Given the description of an element on the screen output the (x, y) to click on. 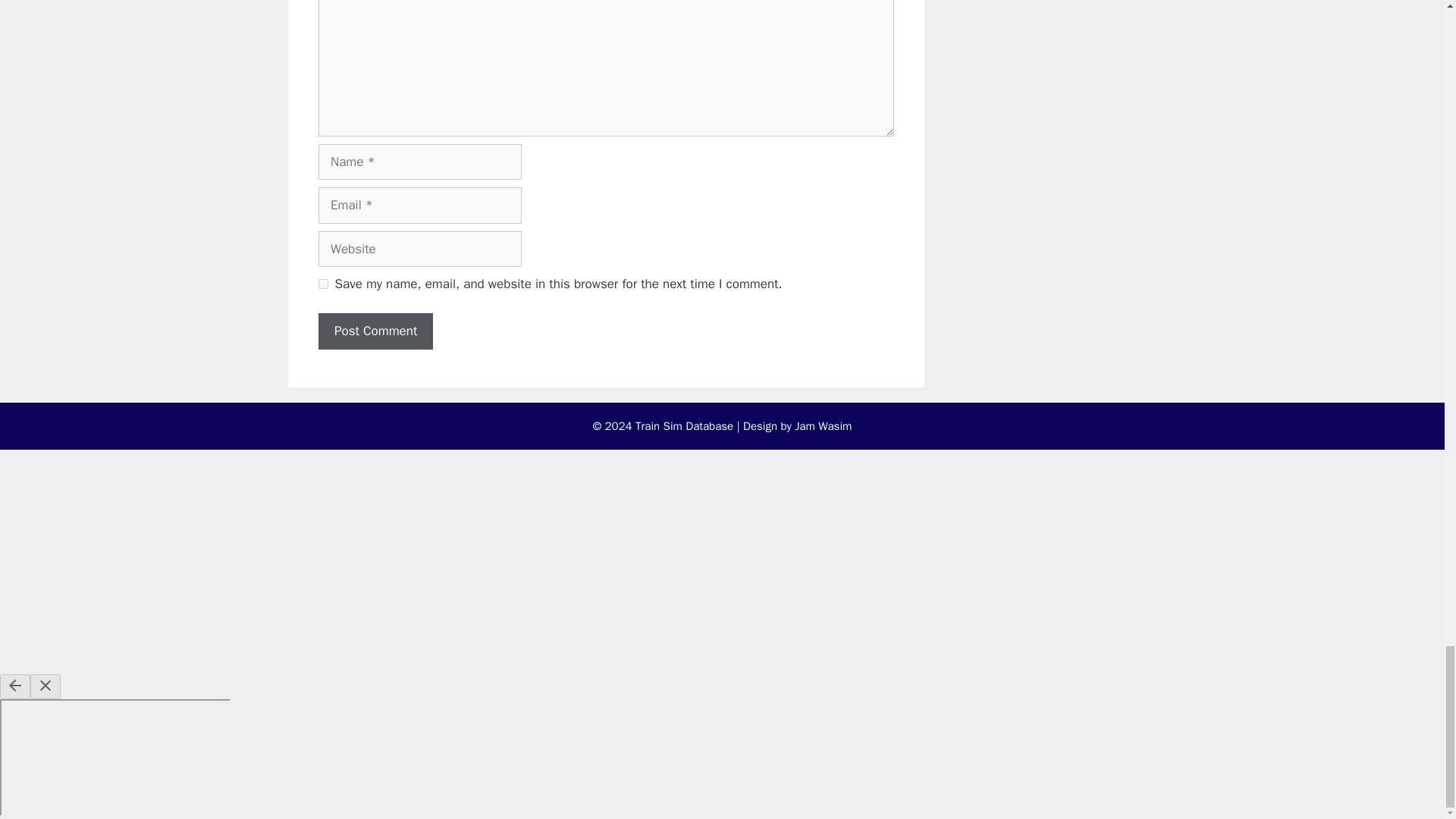
yes (323, 284)
Post Comment (375, 330)
